Given the description of an element on the screen output the (x, y) to click on. 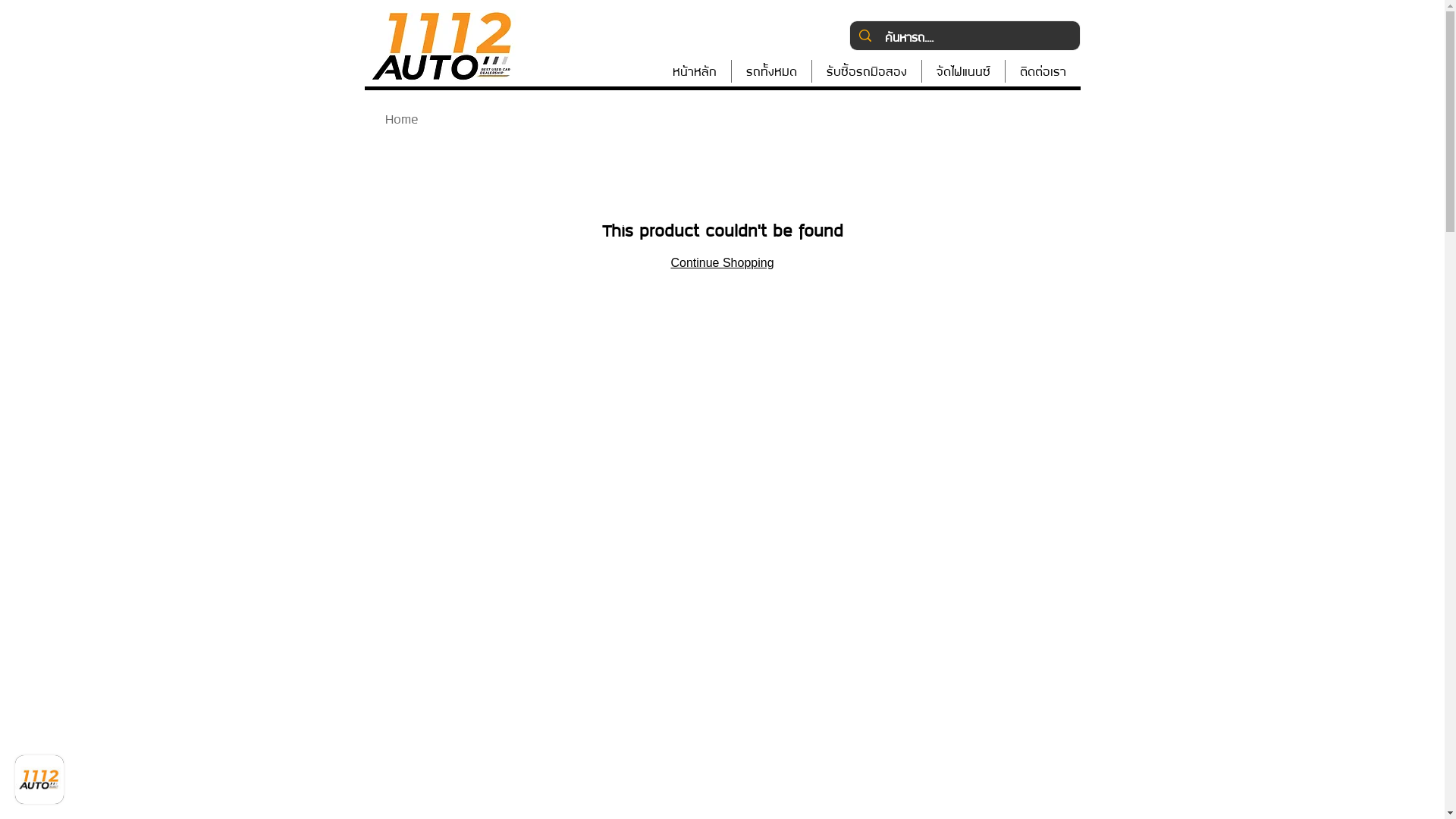
Home Element type: text (401, 118)
Continue Shopping Element type: text (721, 262)
